Given the description of an element on the screen output the (x, y) to click on. 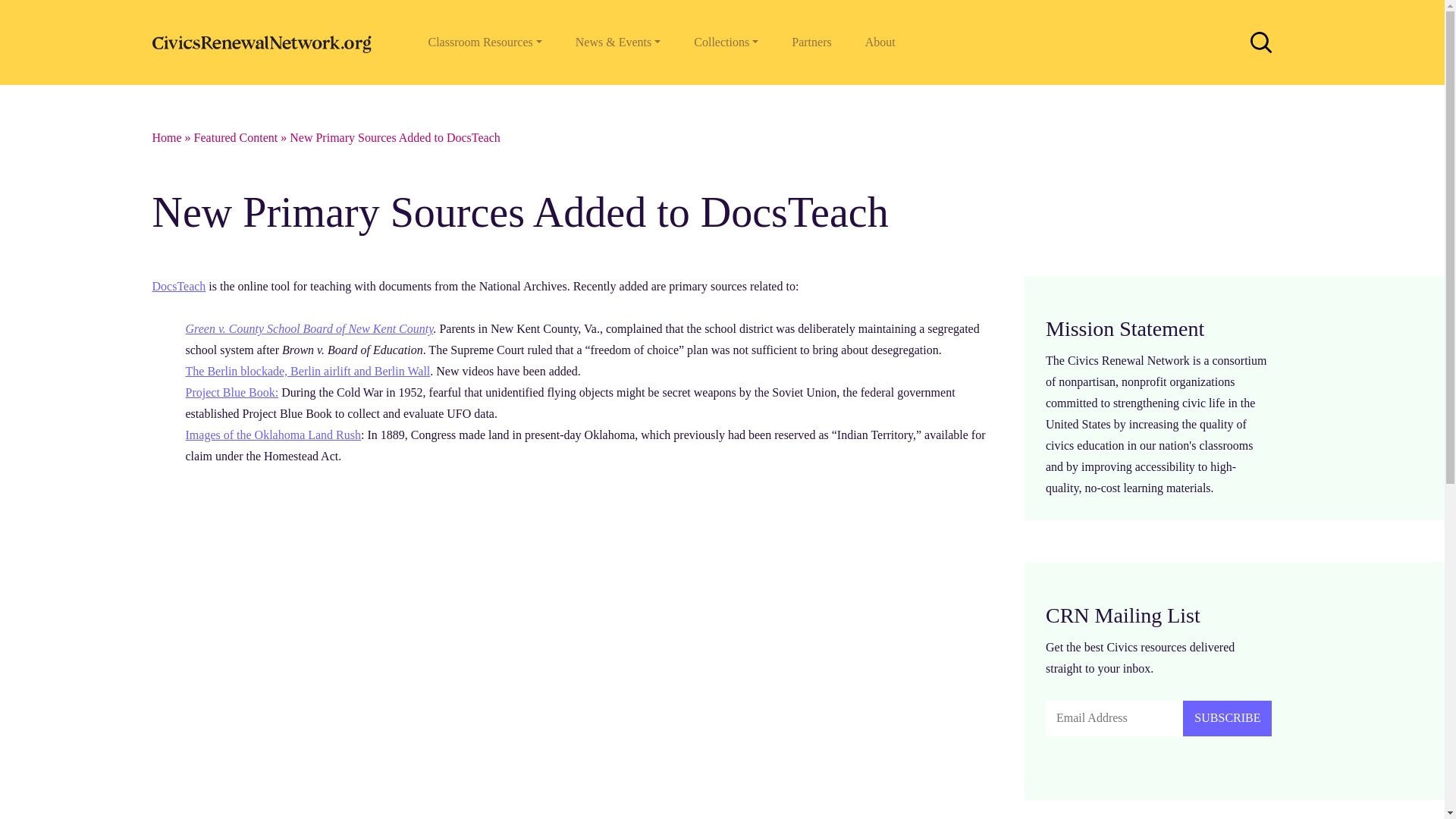
Subscribe (1226, 718)
CivicsRenewalNetwork.org (264, 41)
Classroom Resources (484, 42)
